Given the description of an element on the screen output the (x, y) to click on. 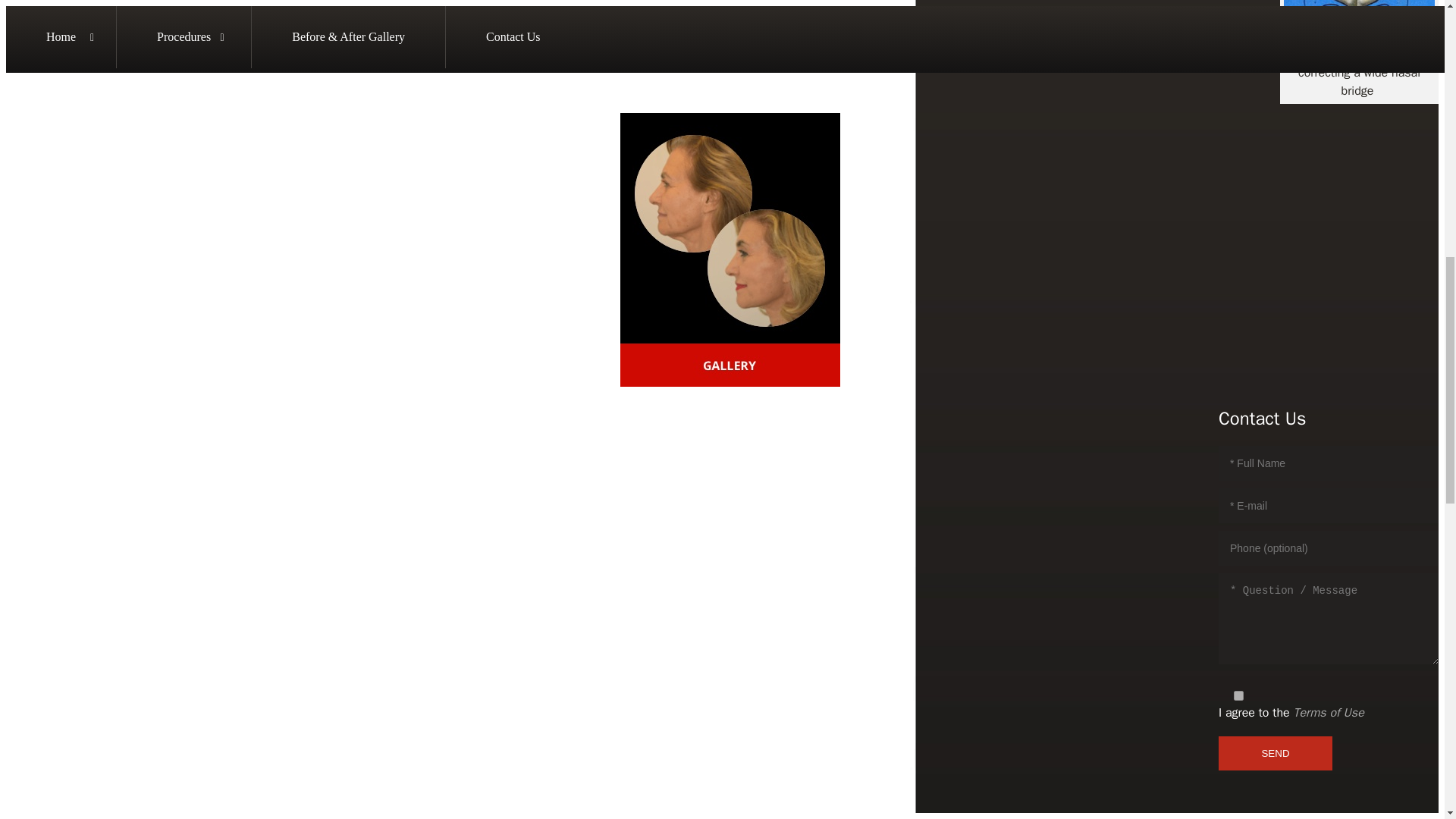
Send (1275, 753)
1 (1238, 696)
